Given the description of an element on the screen output the (x, y) to click on. 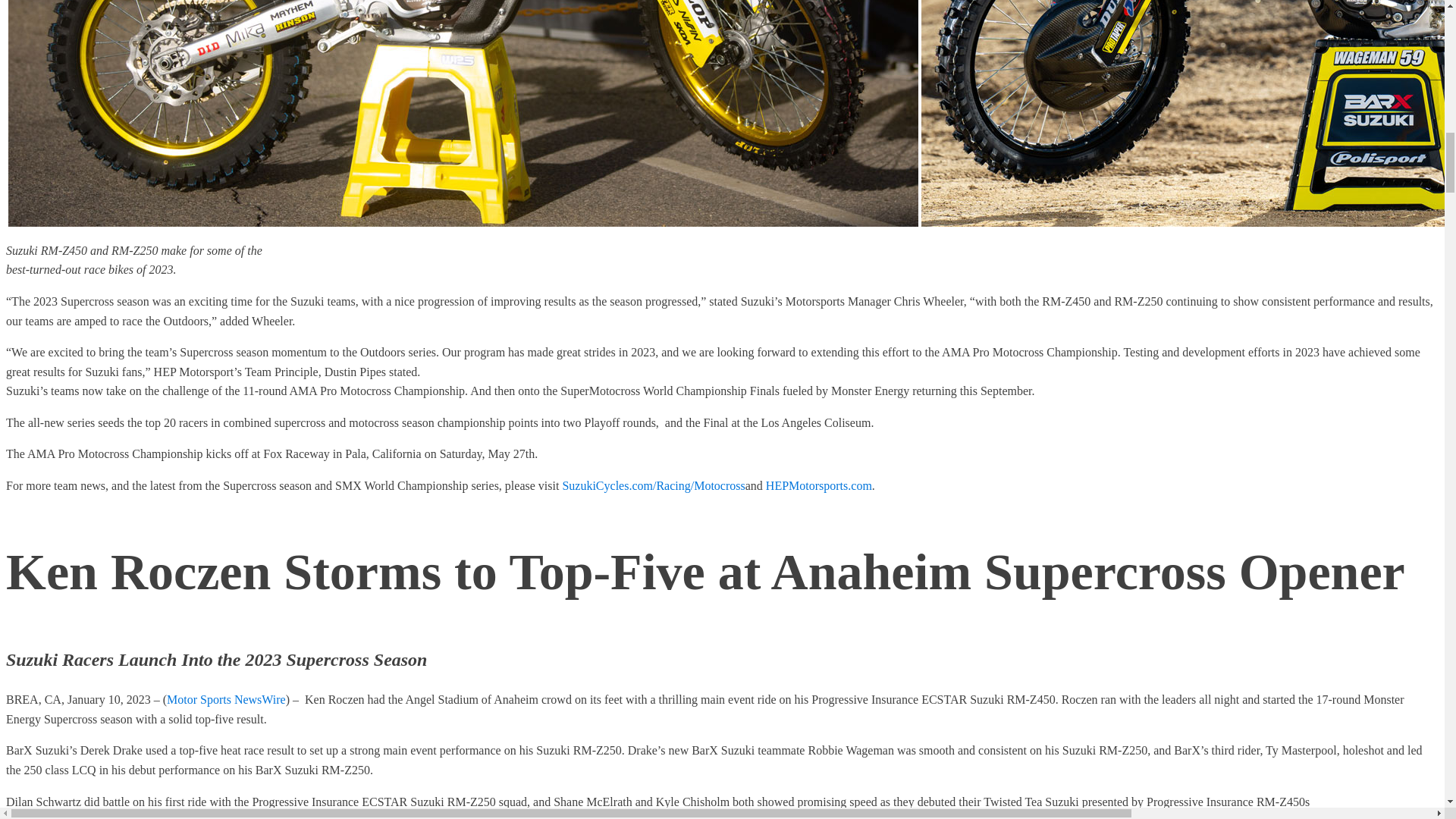
HEPMotorsports.com (818, 485)
Motor Sports NewsWire (226, 698)
